Given the description of an element on the screen output the (x, y) to click on. 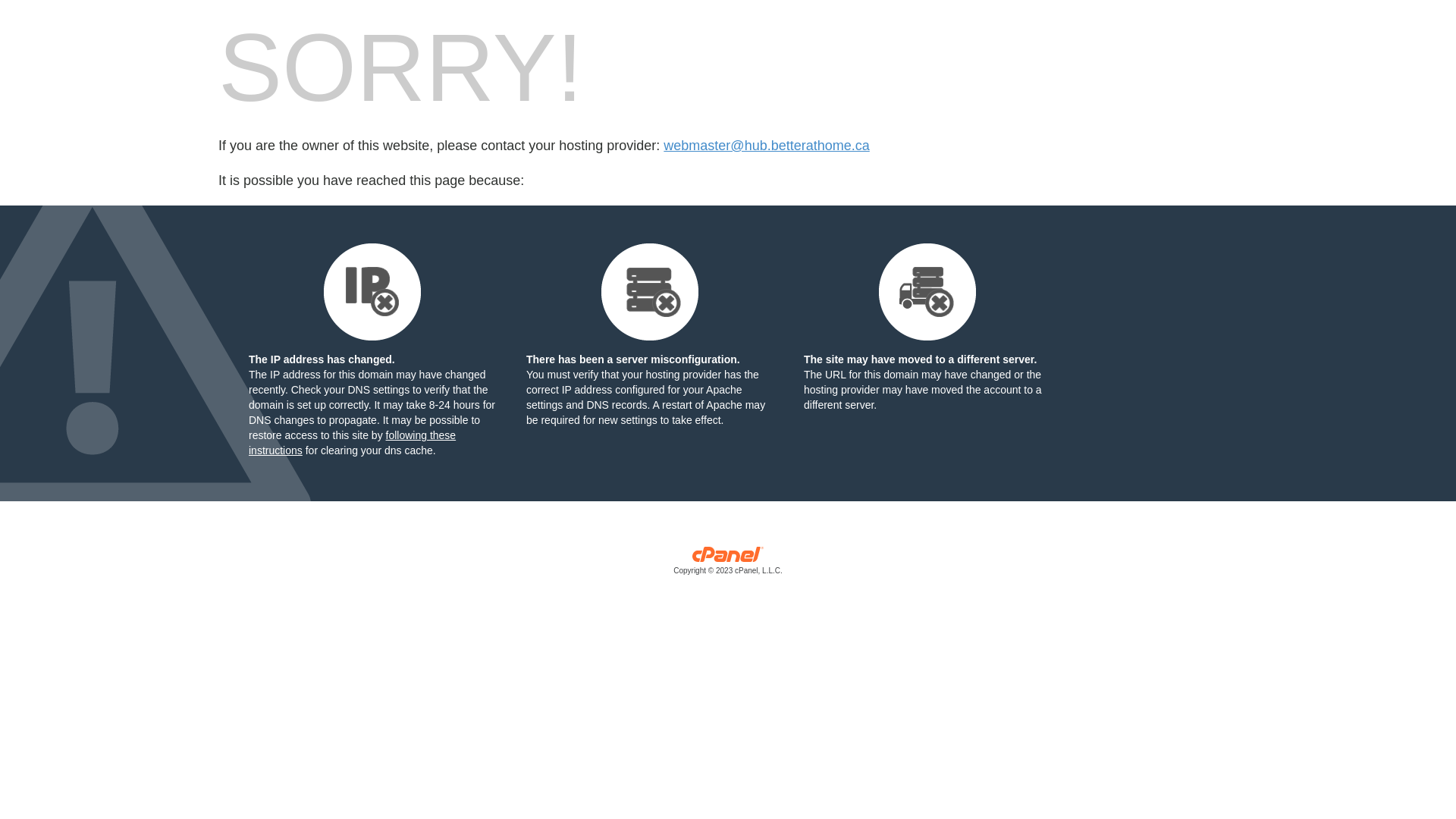
webmaster@hub.betterathome.ca Element type: text (766, 145)
following these instructions Element type: text (351, 442)
